Given the description of an element on the screen output the (x, y) to click on. 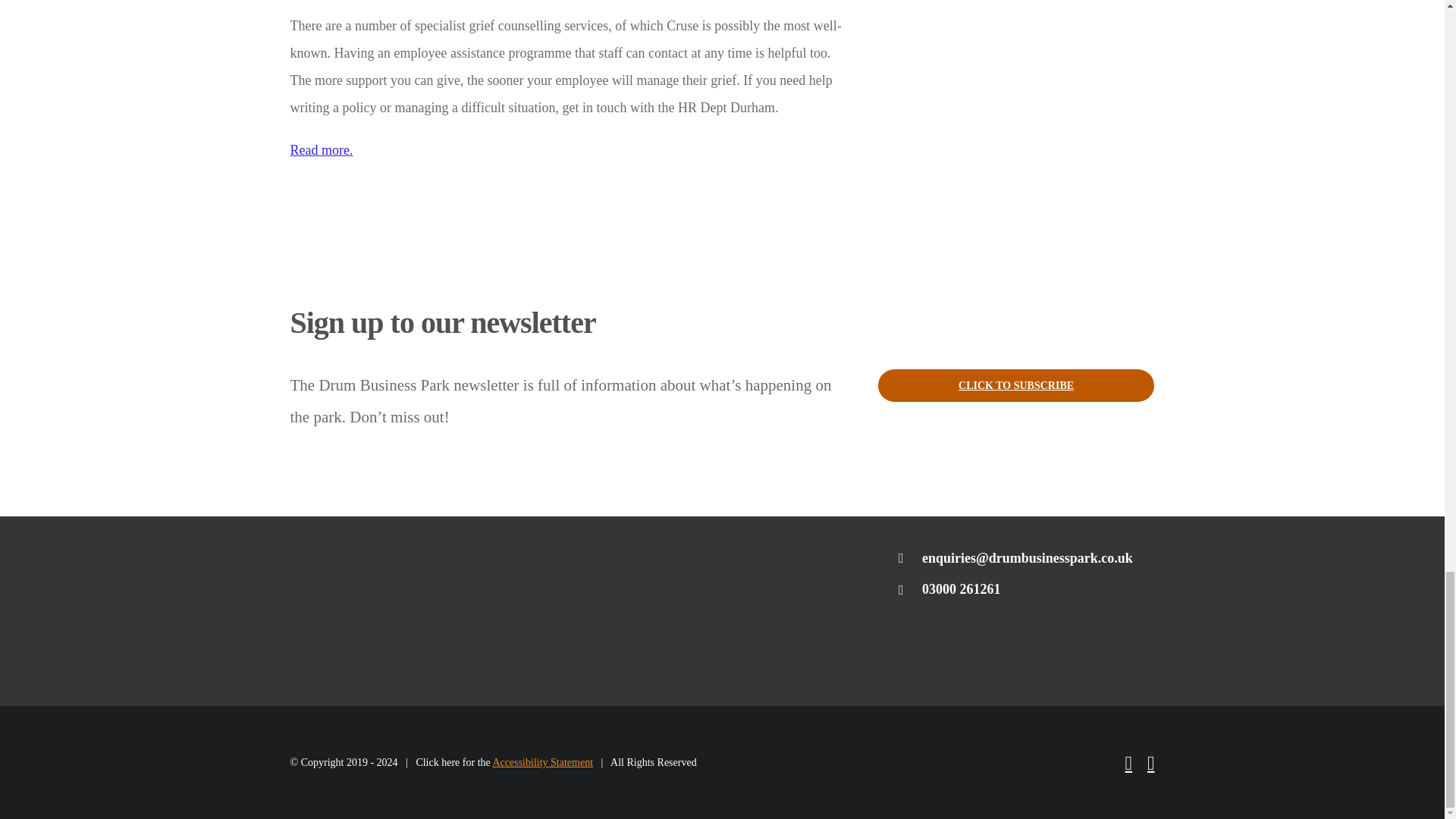
Read more. (320, 150)
Accessibility Statement (542, 762)
CLICK TO SUBSCRIBE (1015, 385)
